Given the description of an element on the screen output the (x, y) to click on. 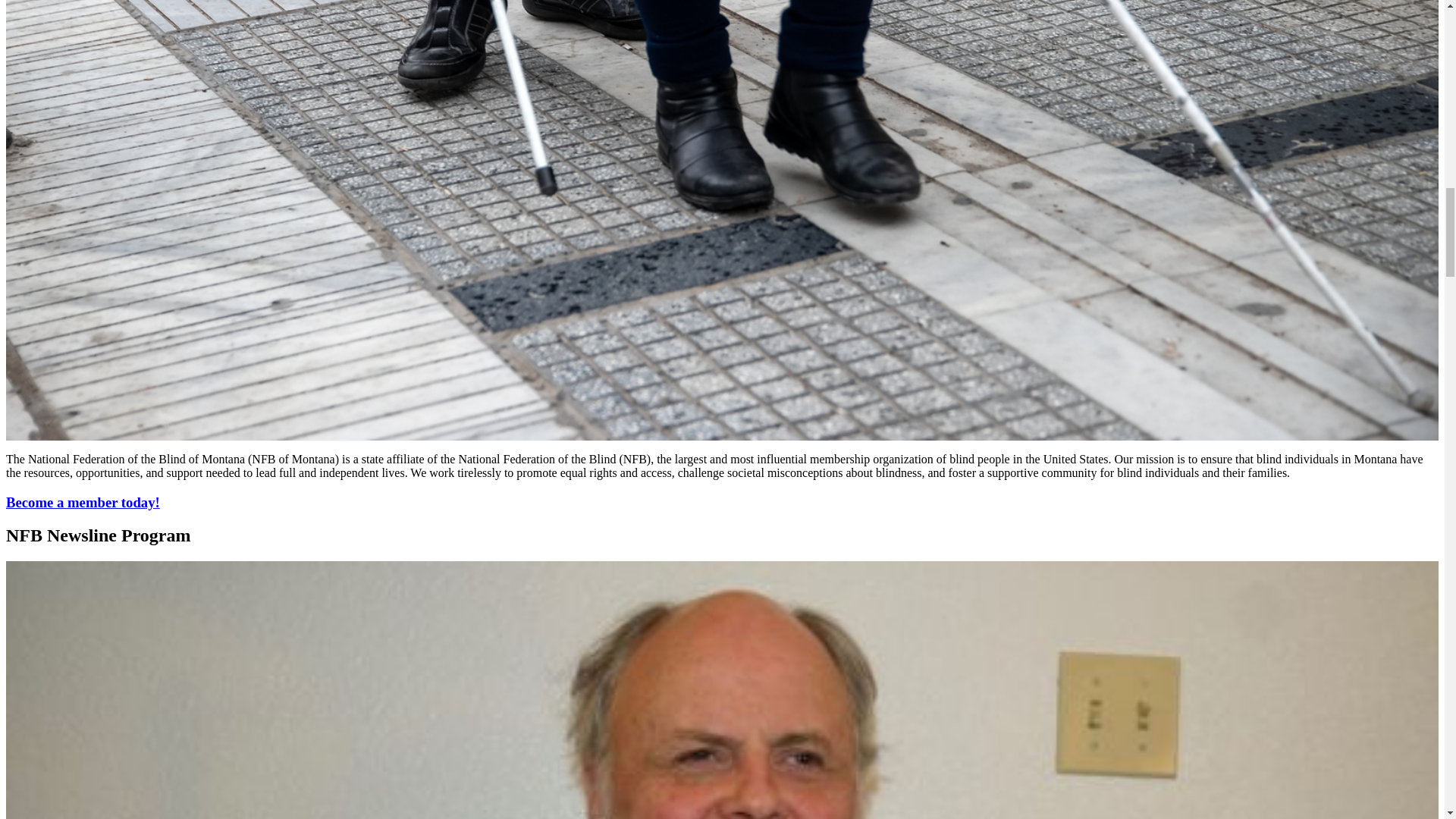
Become a member today! (82, 502)
